Given the description of an element on the screen output the (x, y) to click on. 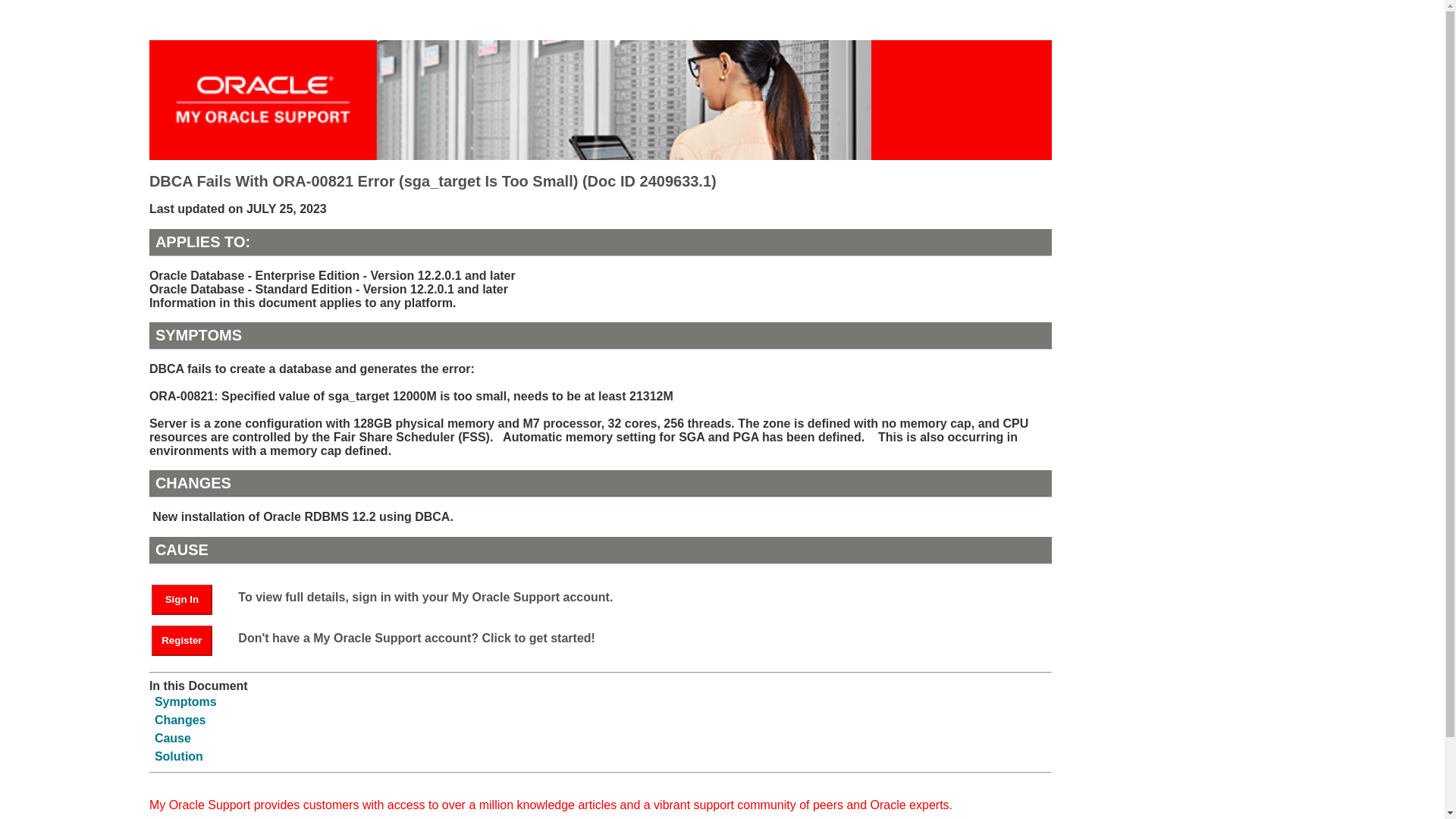
Symptoms (185, 701)
Changes (180, 719)
Cause (172, 738)
Sign In (181, 599)
Register (189, 639)
Sign In (189, 598)
Solution (178, 756)
Register (181, 640)
